Given the description of an element on the screen output the (x, y) to click on. 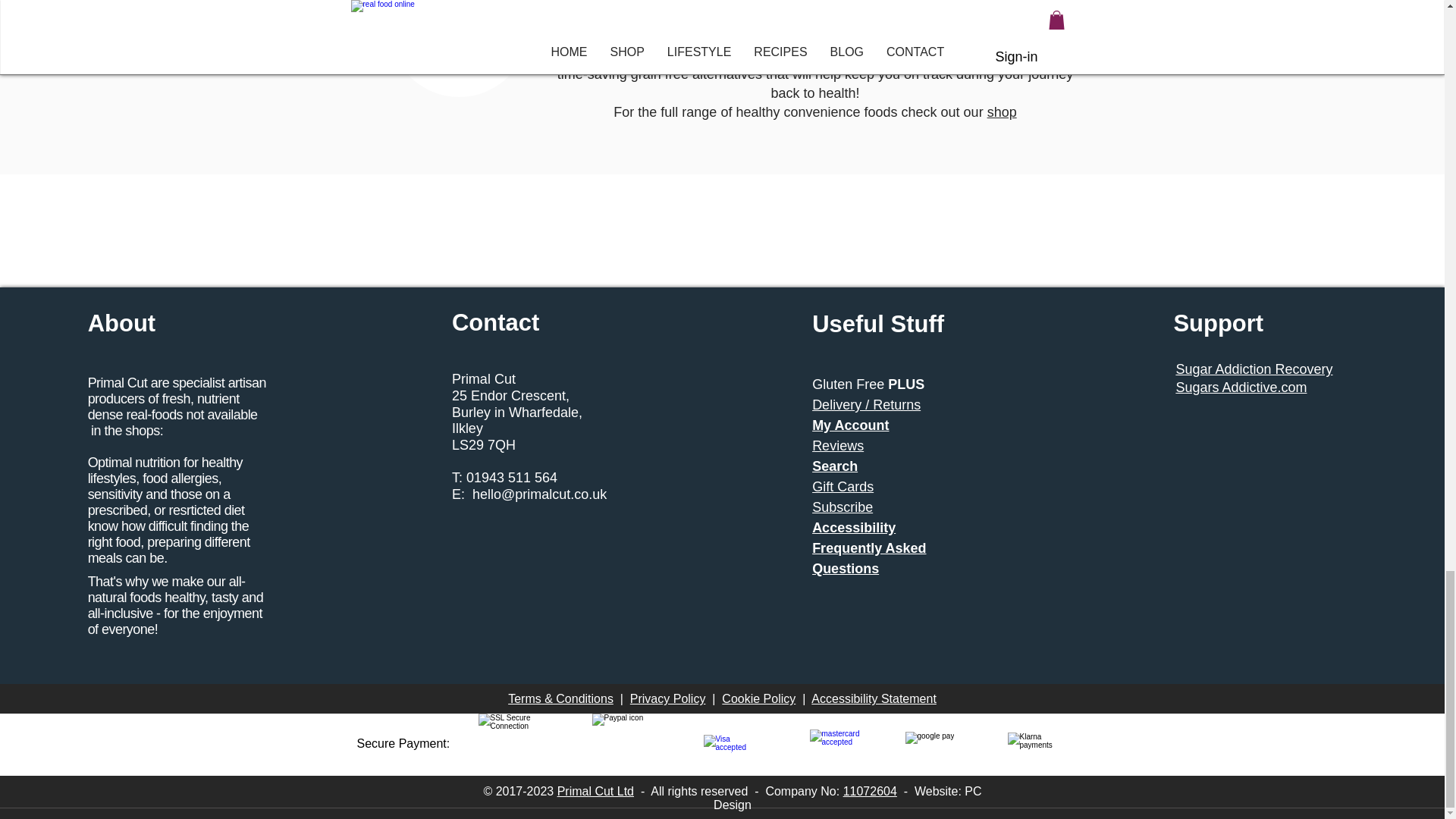
Mastercard accepted (836, 743)
Kate Oliver (458, 48)
VISA accepted (732, 743)
Payments and data are encrypted for your peace of mind.. (512, 743)
